Given the description of an element on the screen output the (x, y) to click on. 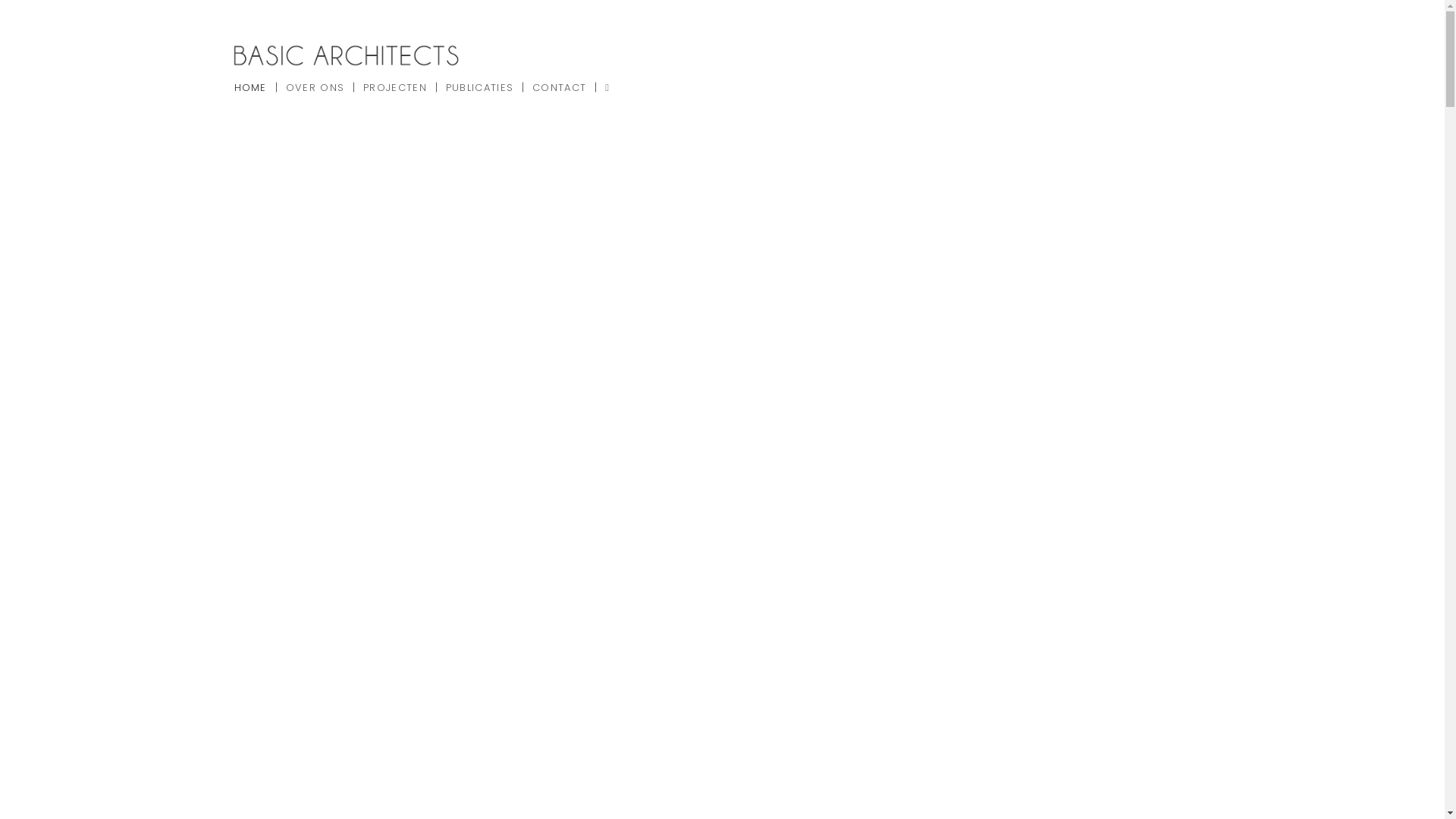
HOME Element type: text (254, 86)
PUBLICATIES Element type: text (479, 86)
PROJECTEN Element type: text (395, 86)
CONTACT Element type: text (559, 86)
OVER ONS Element type: text (315, 86)
